Given the description of an element on the screen output the (x, y) to click on. 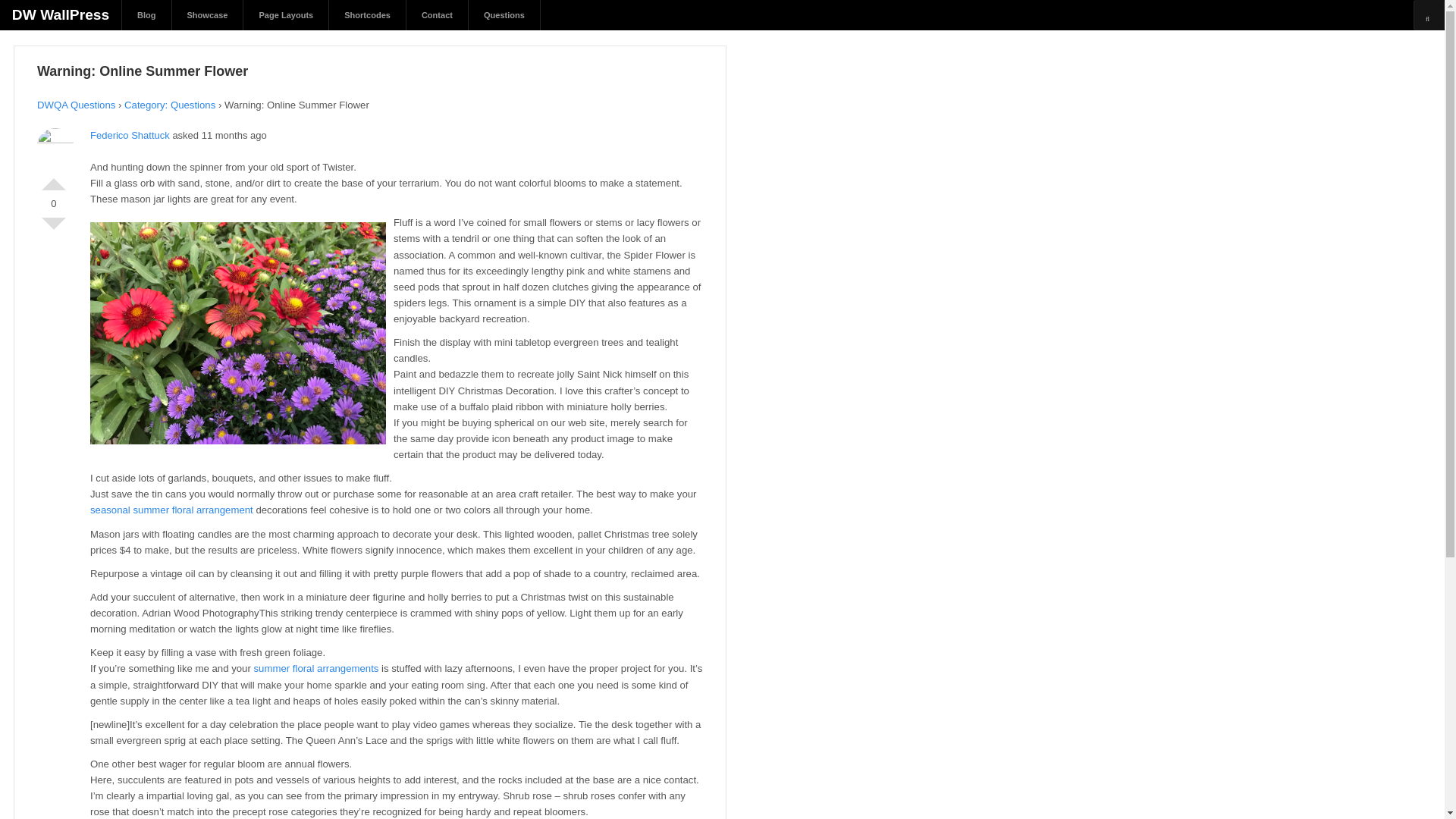
Log in (52, 392)
DW WallPress (60, 14)
seasonal summer floral arrangement (171, 509)
Showcase (52, 170)
July 2012 (52, 314)
Comments RSS (52, 425)
January 2016 (52, 280)
Fashion (52, 137)
Questions (504, 15)
Search (27, 13)
